Given the description of an element on the screen output the (x, y) to click on. 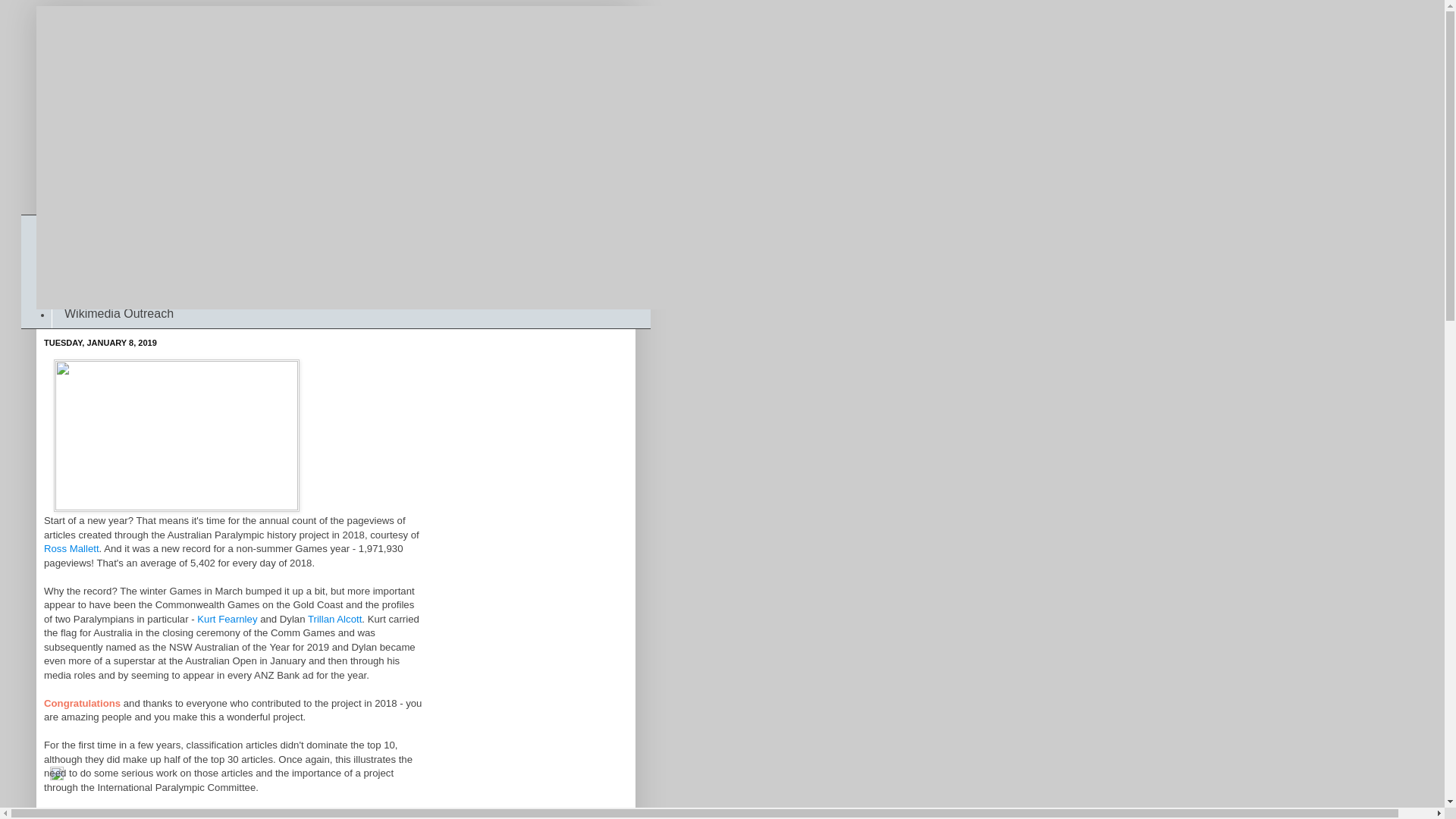
Edit Post Element type: hover (56, 776)
Email list Element type: text (88, 285)
About Element type: text (79, 257)
Ross Mallett Element type: text (71, 548)
Blog Element type: text (75, 229)
Trillan Alcott Element type: text (334, 618)
Wikimedia Outreach Element type: text (118, 314)
Kurt Fearnley Element type: text (227, 618)
